Given the description of an element on the screen output the (x, y) to click on. 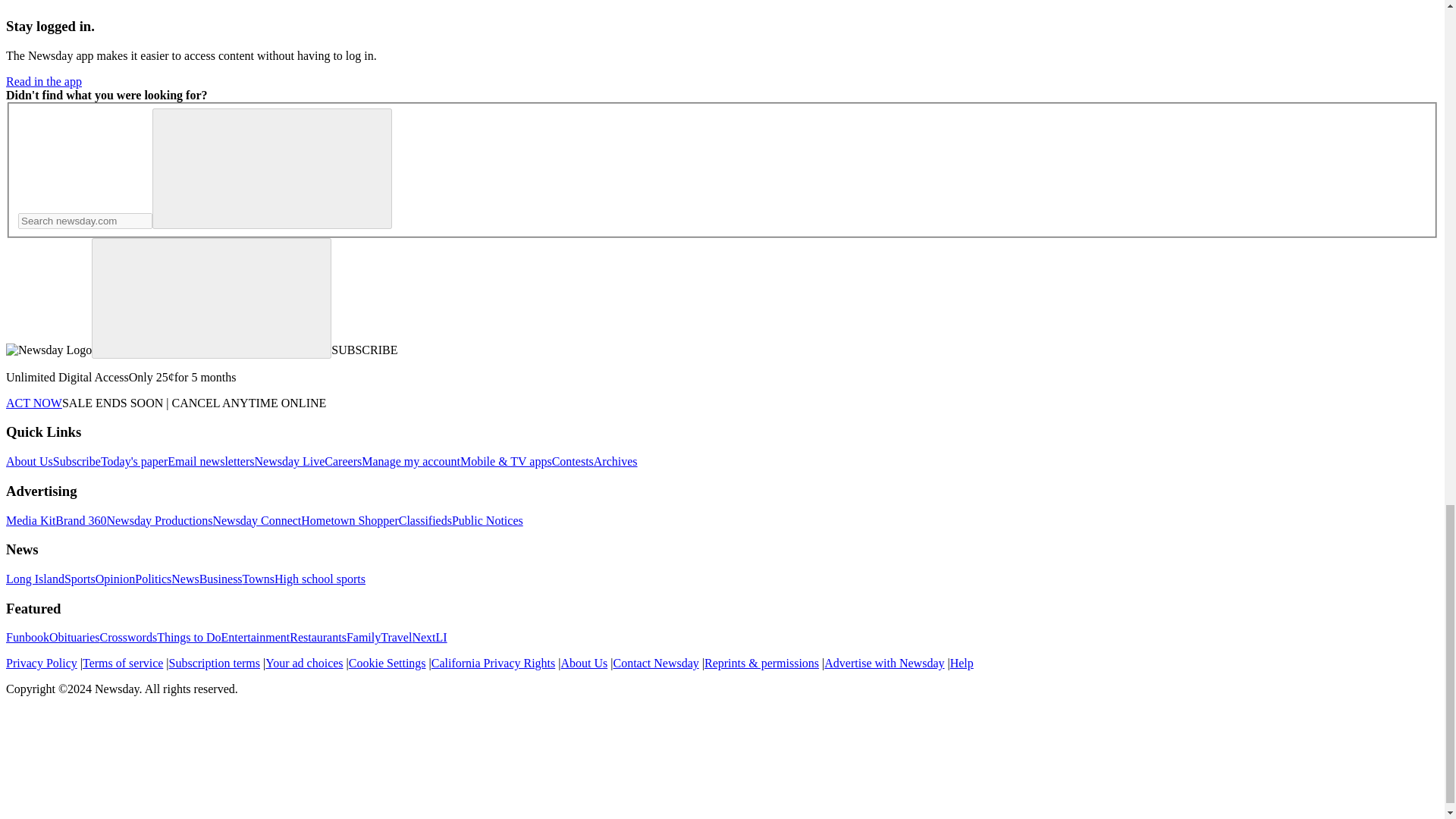
Read in the app (43, 81)
